Given the description of an element on the screen output the (x, y) to click on. 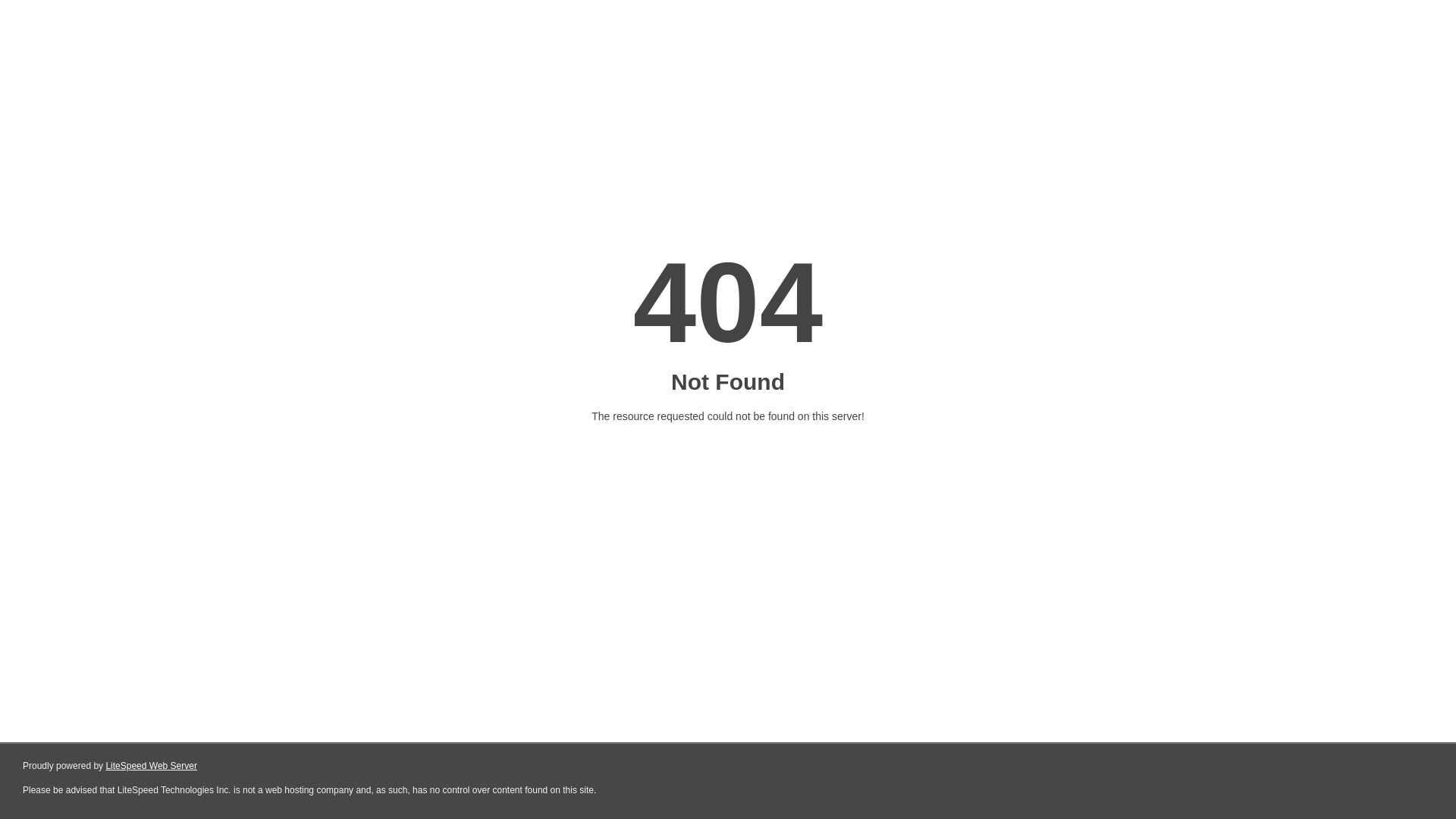
LiteSpeed Web Server Element type: text (151, 765)
